Given the description of an element on the screen output the (x, y) to click on. 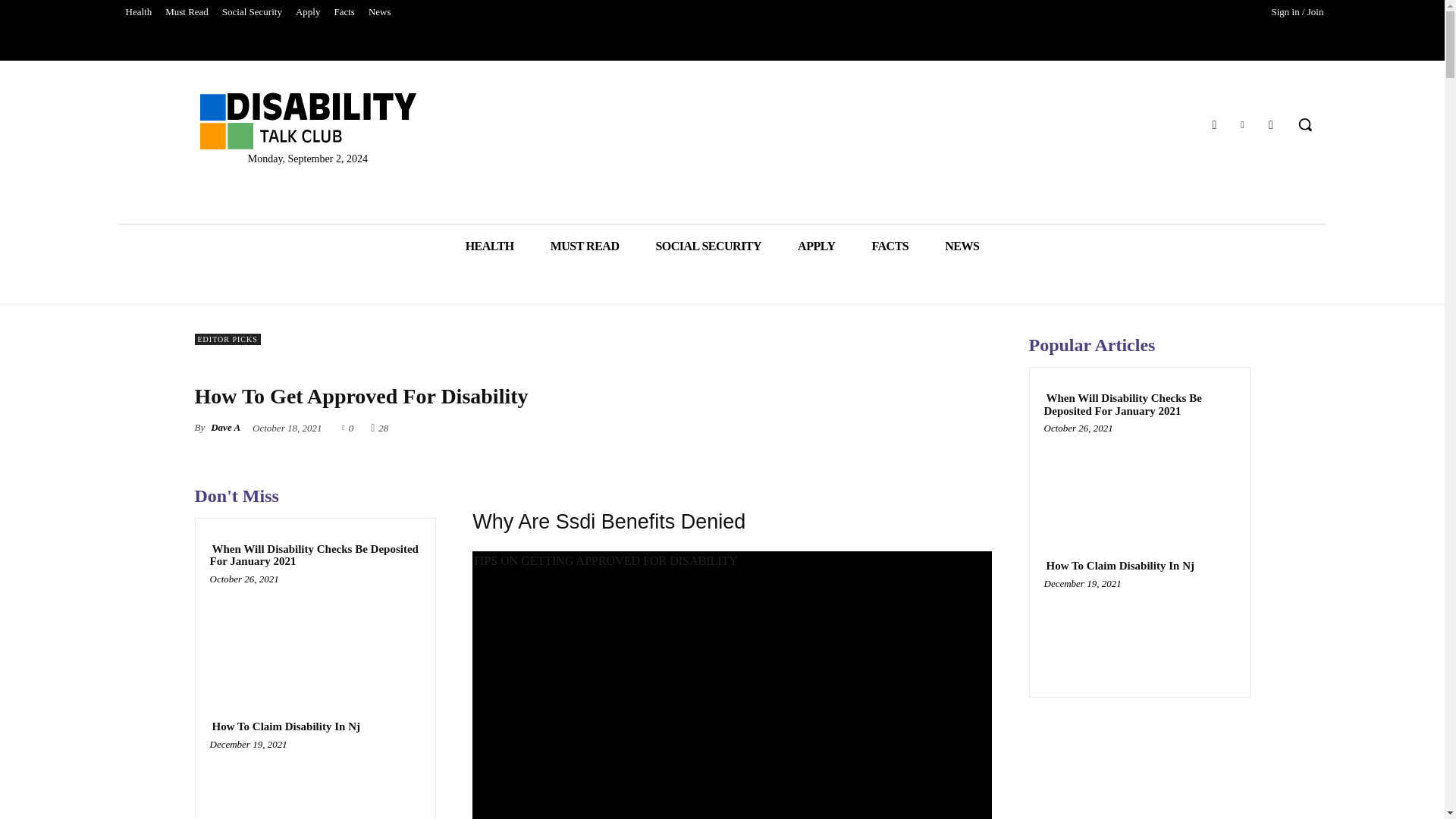
Twitter (1241, 124)
When Will Disability Checks Be Deposited For January 2021 (314, 634)
Must Read (186, 12)
Youtube (1270, 124)
Social Security (251, 12)
News (379, 12)
SOCIAL SECURITY (707, 245)
MUST READ (584, 245)
HEALTH (489, 245)
Facebook (1214, 124)
